Given the description of an element on the screen output the (x, y) to click on. 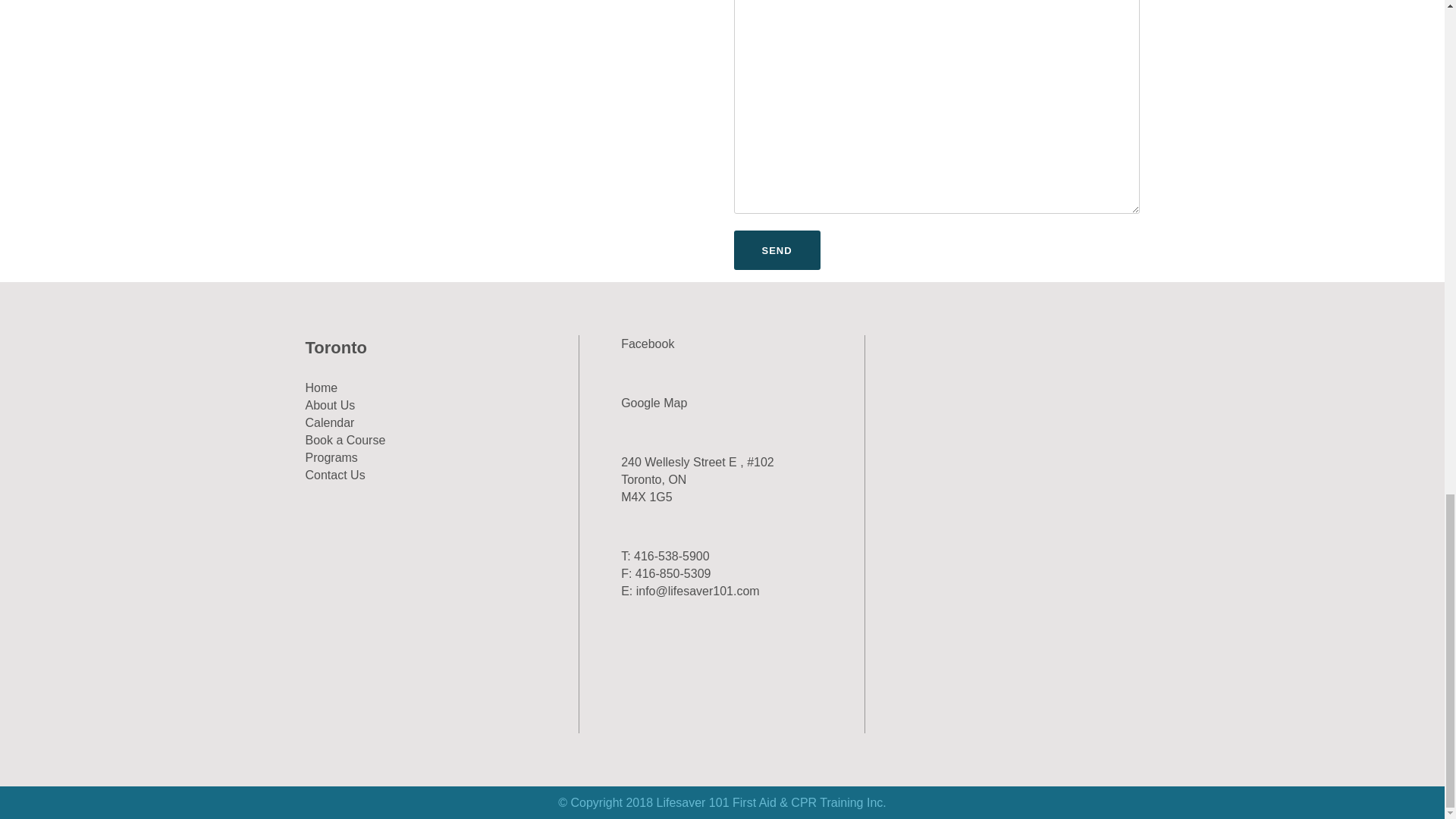
About Us (329, 404)
Send (777, 250)
Send (777, 250)
Lifesaver 101 Google Map Loopup (654, 402)
Home (320, 387)
